Given the description of an element on the screen output the (x, y) to click on. 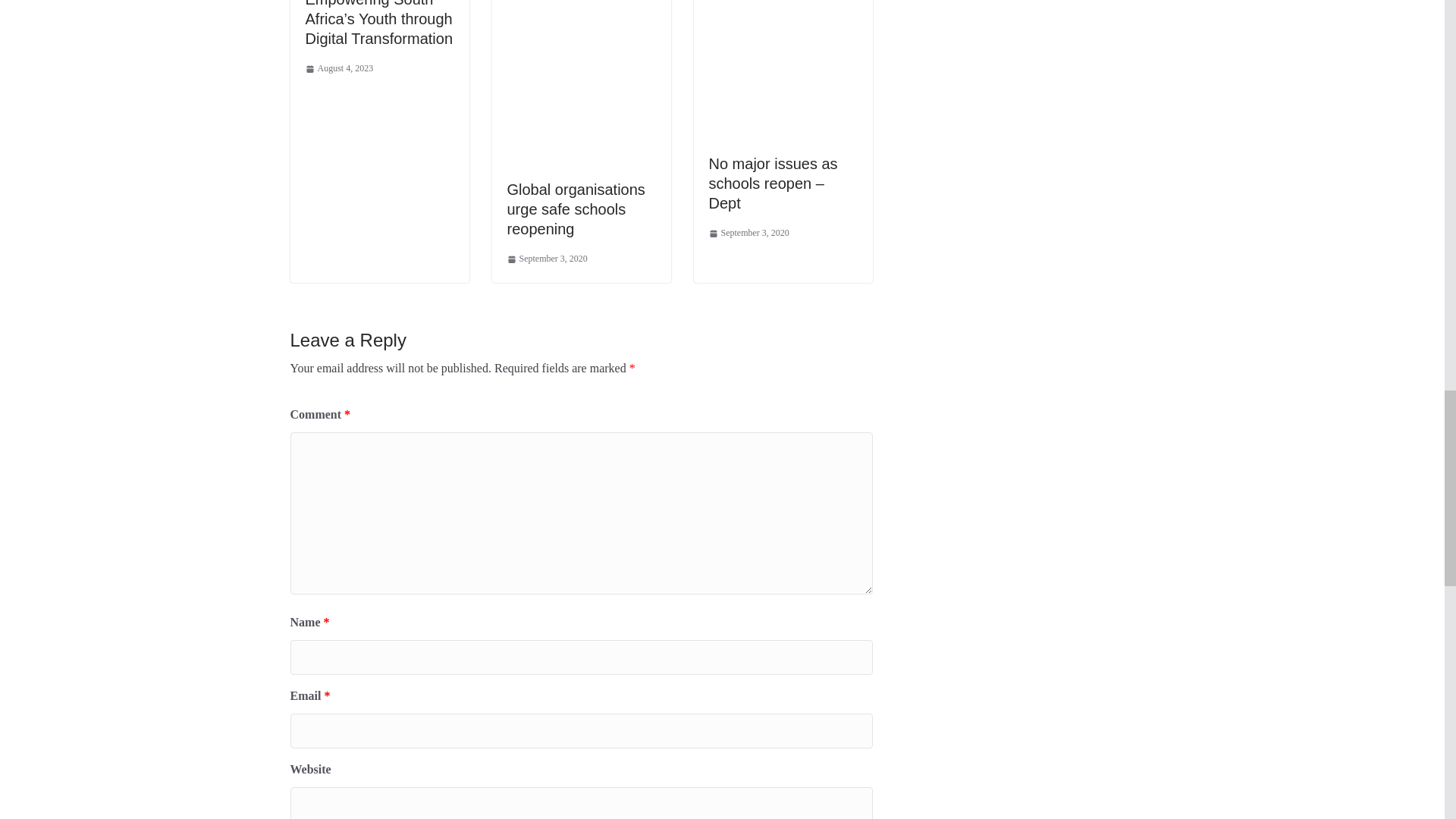
September 3, 2020 (546, 258)
2:23 pm (338, 68)
August 4, 2023 (338, 68)
September 3, 2020 (748, 233)
Global organisations urge safe schools reopening (575, 208)
